Given the description of an element on the screen output the (x, y) to click on. 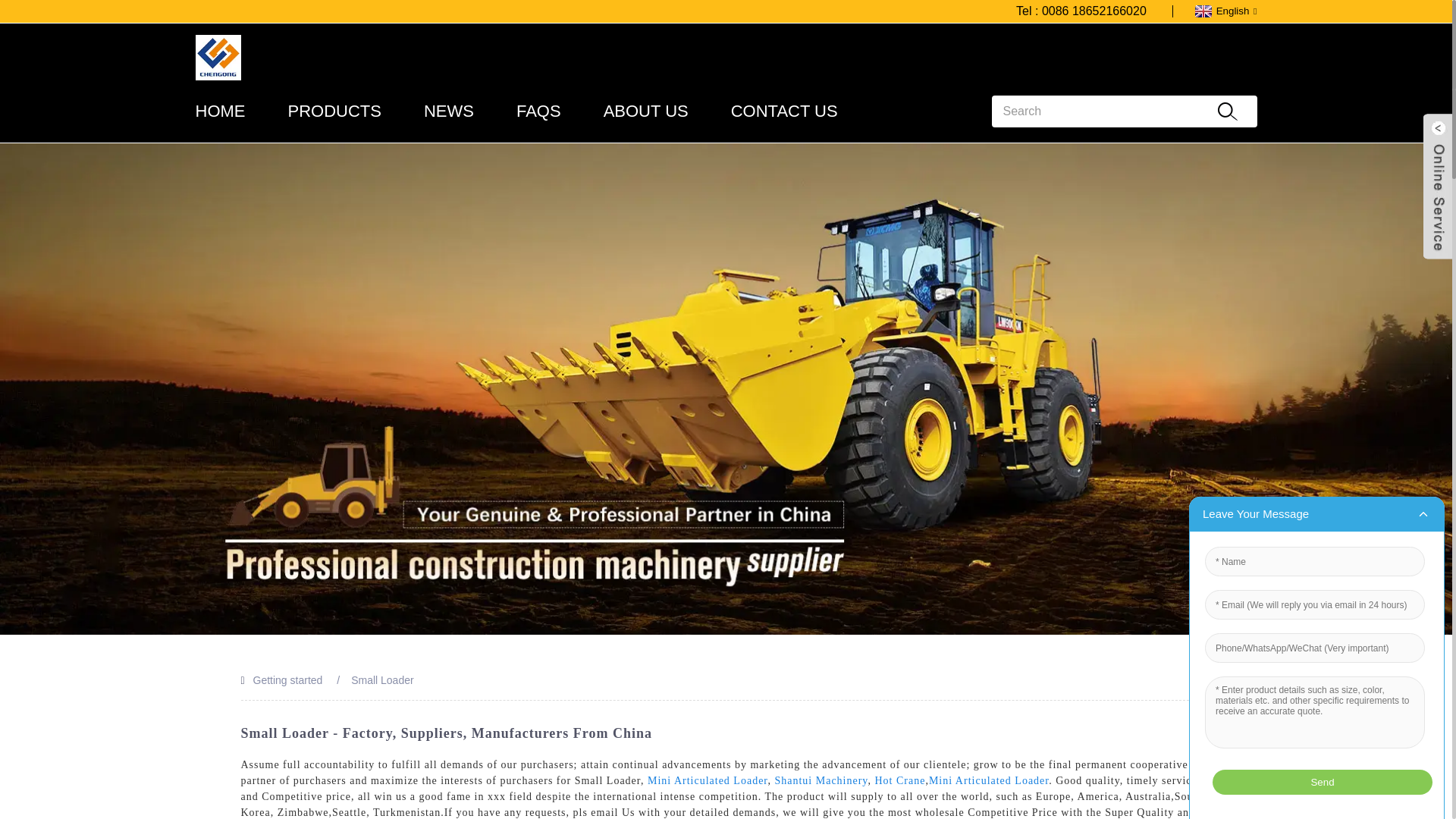
Mini Articulated Loader (988, 780)
English (1224, 10)
Mini Articulated Loader (988, 780)
Small Loader (381, 680)
Mini Articulated Loader (707, 780)
ABOUT US (646, 111)
Shantui Machinery (820, 780)
Getting started (288, 680)
Hot Crane (899, 780)
NEWS (448, 111)
HOME (220, 111)
PRODUCTS (334, 111)
Shantui Machinery (820, 780)
Mini Articulated Loader (707, 780)
0086 18652166020 (1094, 10)
